Given the description of an element on the screen output the (x, y) to click on. 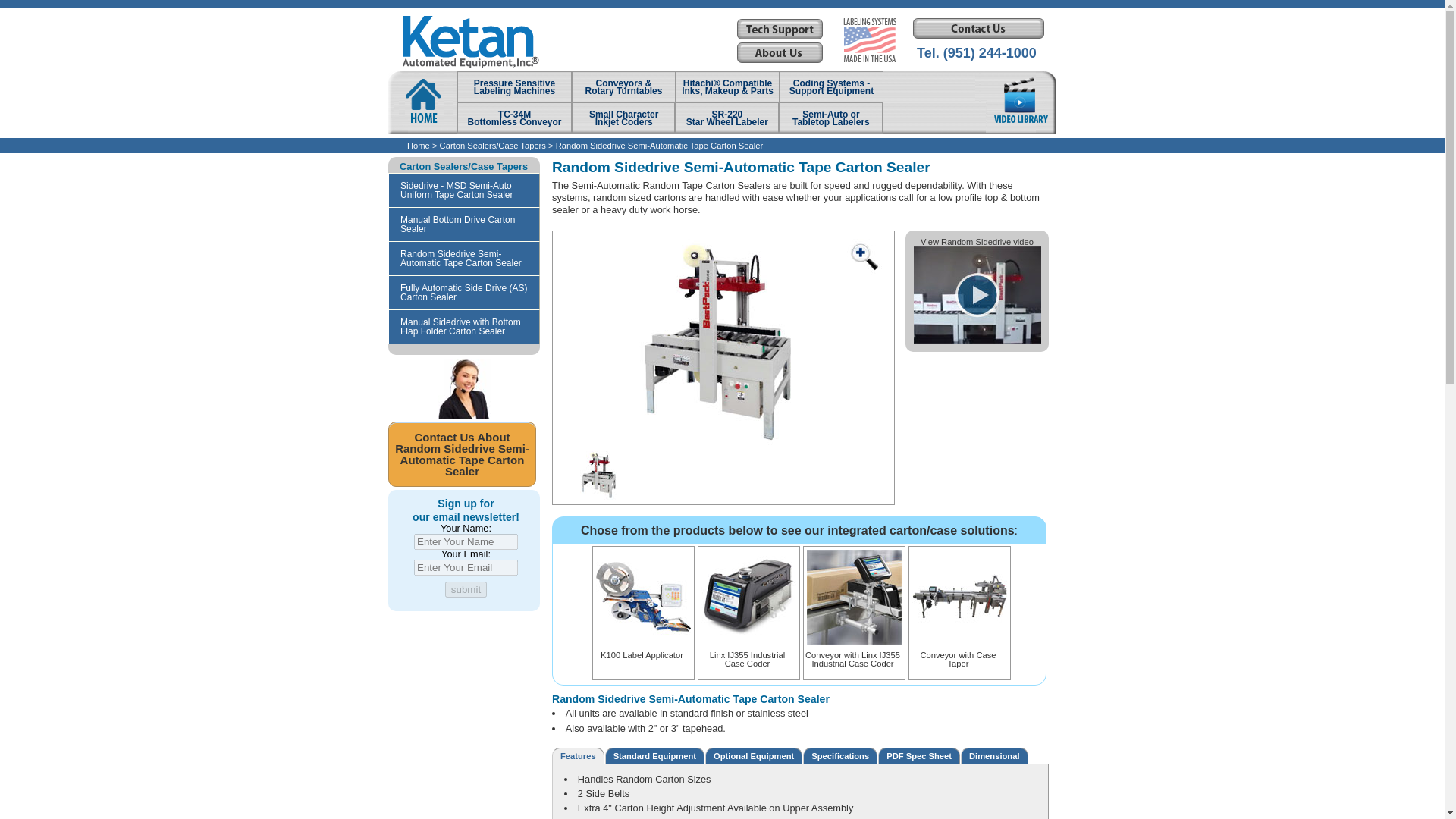
Ketan Labeling Systems - Made in the USA (726, 118)
Linx IJ355 Industrial Case Coder (869, 39)
Conveyor with Linx IJ355 Industrial Case Coder (748, 652)
Random Sidedrive Semi-Automatic Tape Carton Sealer (853, 652)
Conveyor with Case Taper (976, 339)
K100 Label Applicator (514, 87)
Home (959, 652)
Tech Support (830, 118)
Manual Sidedrive with Bottom Flap Folder Carton Sealer (514, 118)
Contact Us (643, 648)
